Given the description of an element on the screen output the (x, y) to click on. 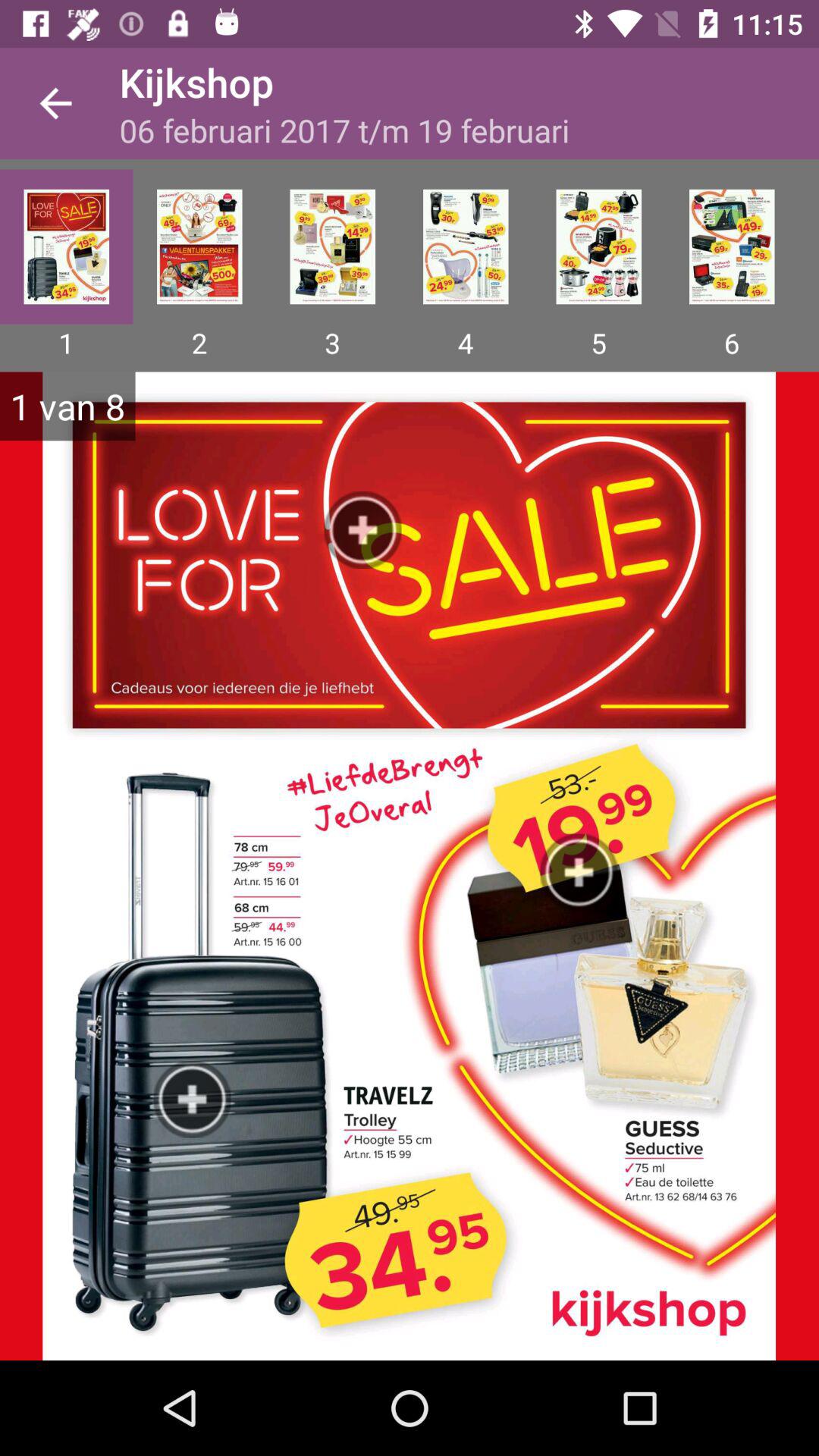
the greeting card (465, 246)
